Given the description of an element on the screen output the (x, y) to click on. 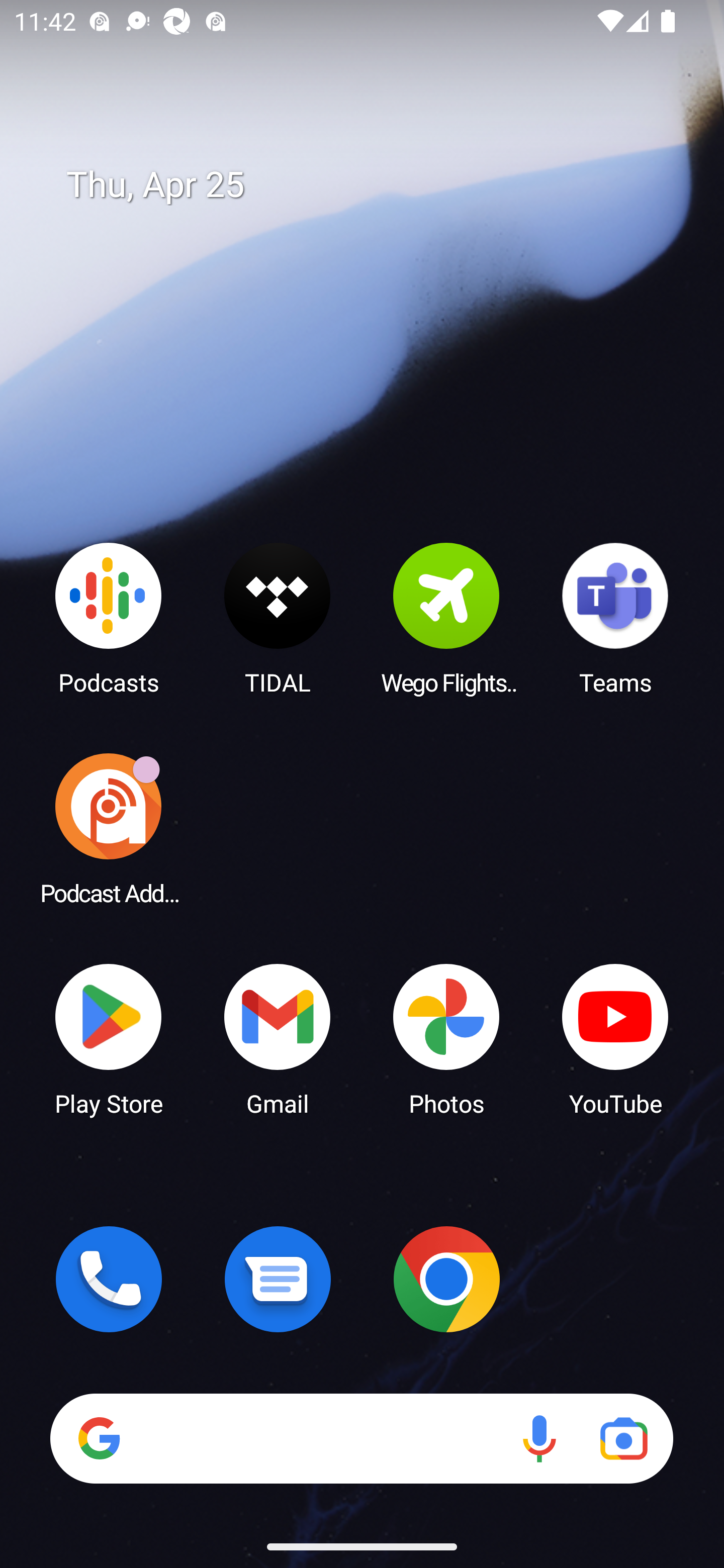
Thu, Apr 25 (375, 184)
Podcasts (108, 617)
TIDAL (277, 617)
Wego Flights & Hotels (445, 617)
Teams (615, 617)
Play Store (108, 1038)
Gmail (277, 1038)
Photos (445, 1038)
YouTube (615, 1038)
Phone (108, 1279)
Messages (277, 1279)
Chrome (446, 1279)
Search Voice search Google Lens (361, 1438)
Voice search (539, 1438)
Google Lens (623, 1438)
